Given the description of an element on the screen output the (x, y) to click on. 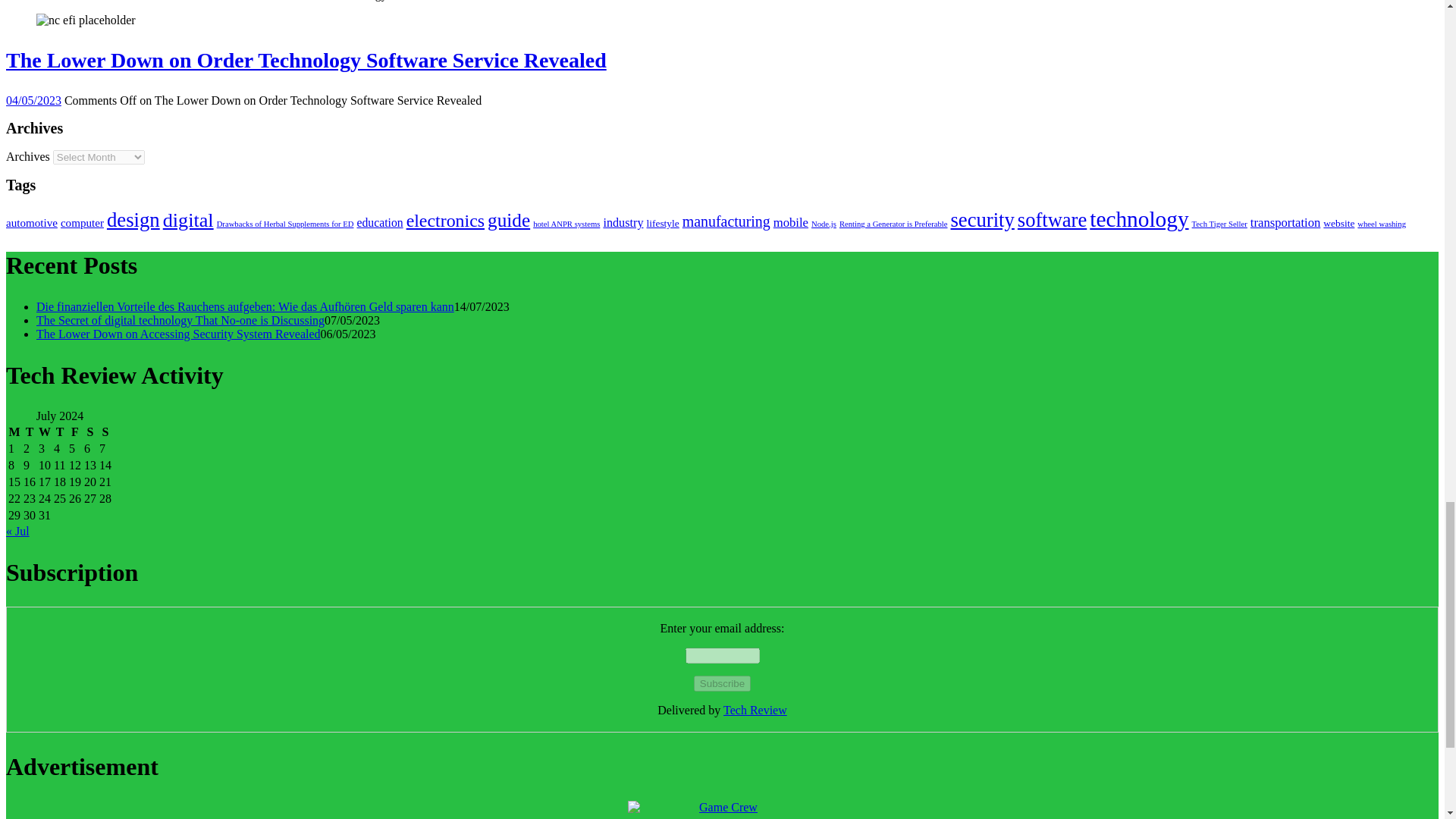
Wednesday (43, 432)
Friday (74, 432)
Subscribe (722, 683)
Sunday (105, 432)
Tuesday (29, 432)
The Lower Down on Order Technology Software Service Revealed (85, 20)
Game Crew (721, 809)
Thursday (59, 432)
Monday (14, 432)
Saturday (89, 432)
